Given the description of an element on the screen output the (x, y) to click on. 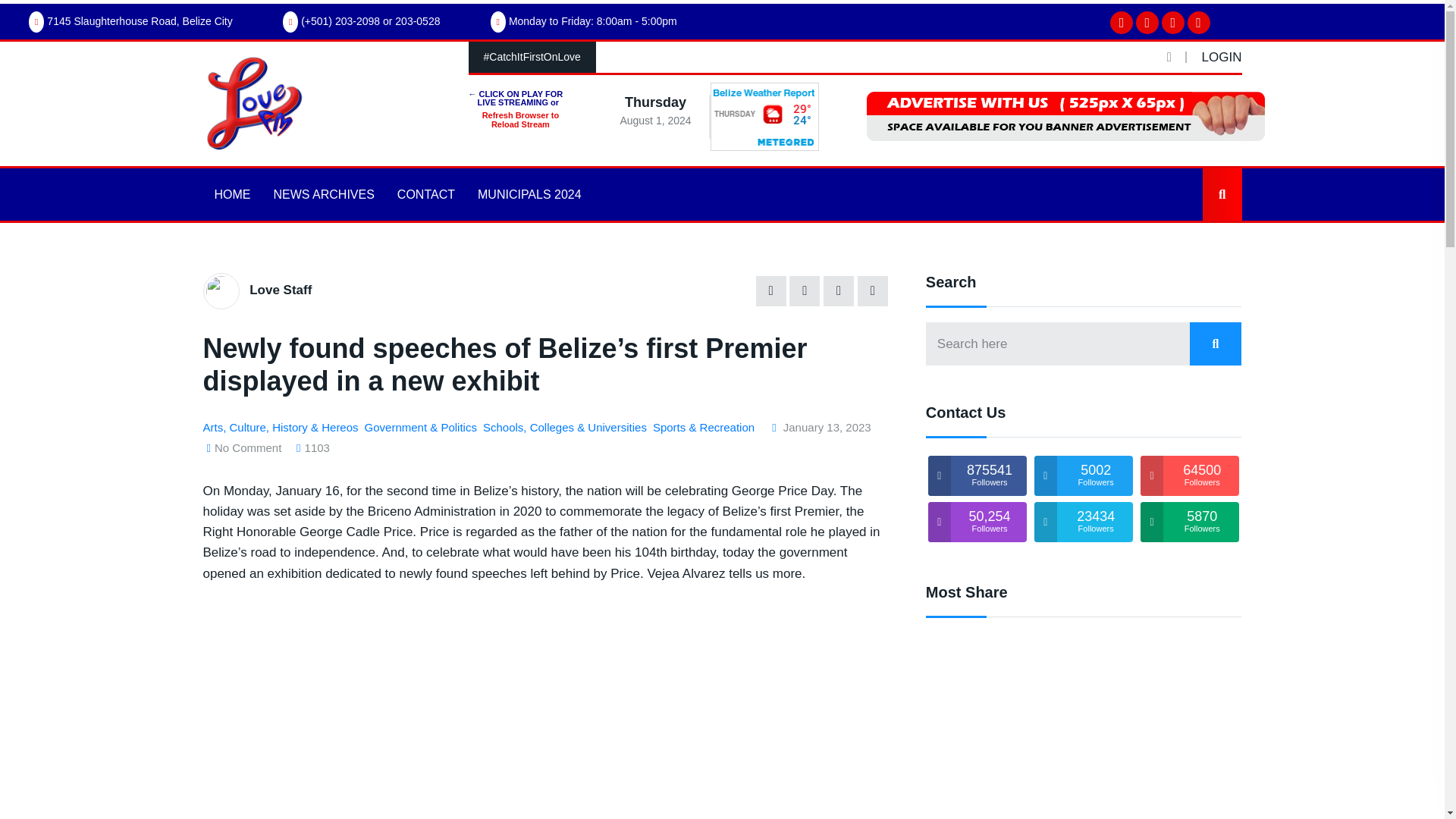
Home (227, 207)
Love Staff (279, 289)
HOME (232, 194)
MUNICIPALS 2024 (528, 194)
CONTACT (425, 194)
NEWS ARCHIVES (323, 194)
LOGIN (1221, 56)
